Given the description of an element on the screen output the (x, y) to click on. 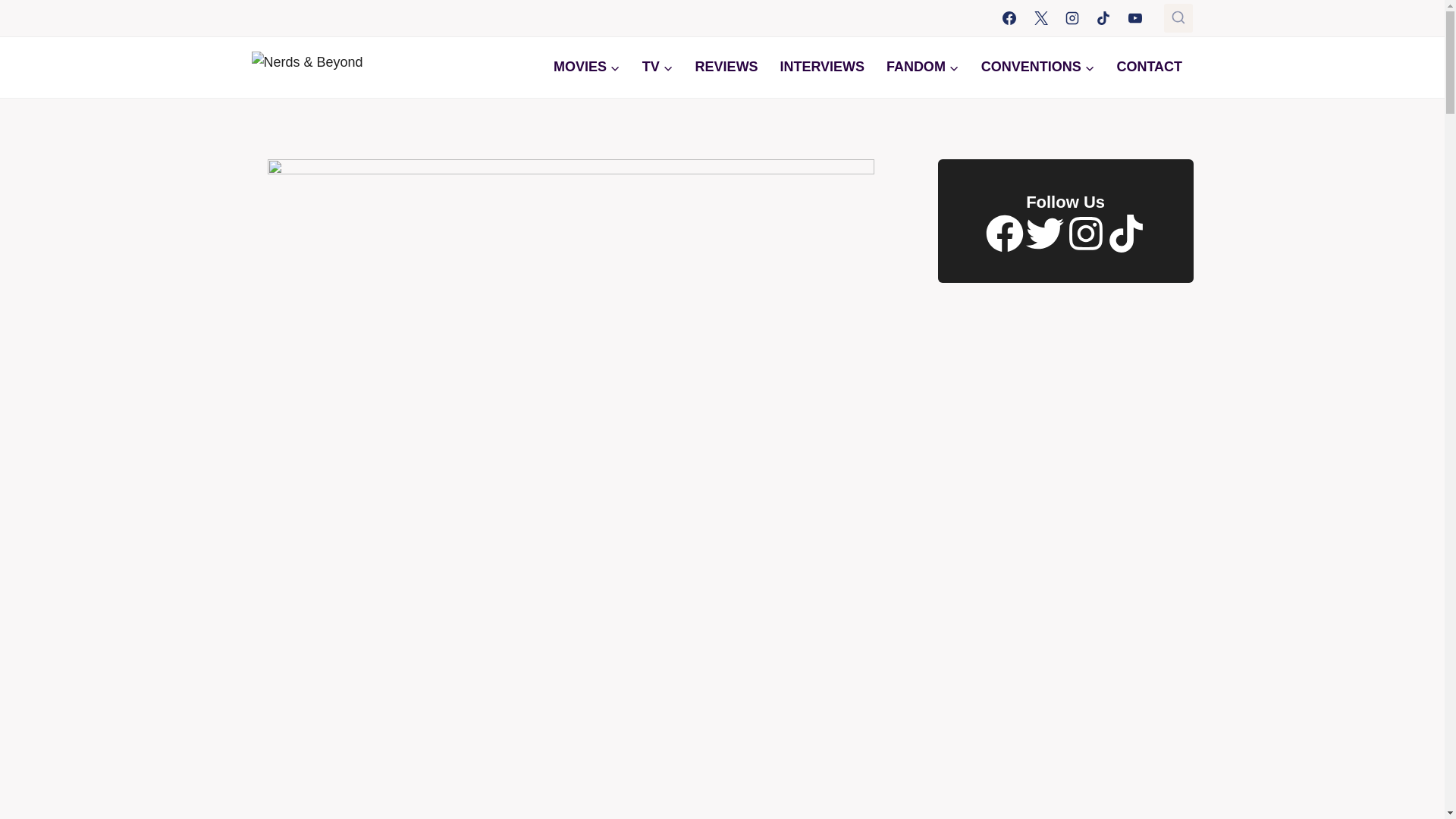
TV (657, 66)
MOVIES (587, 66)
